Given the description of an element on the screen output the (x, y) to click on. 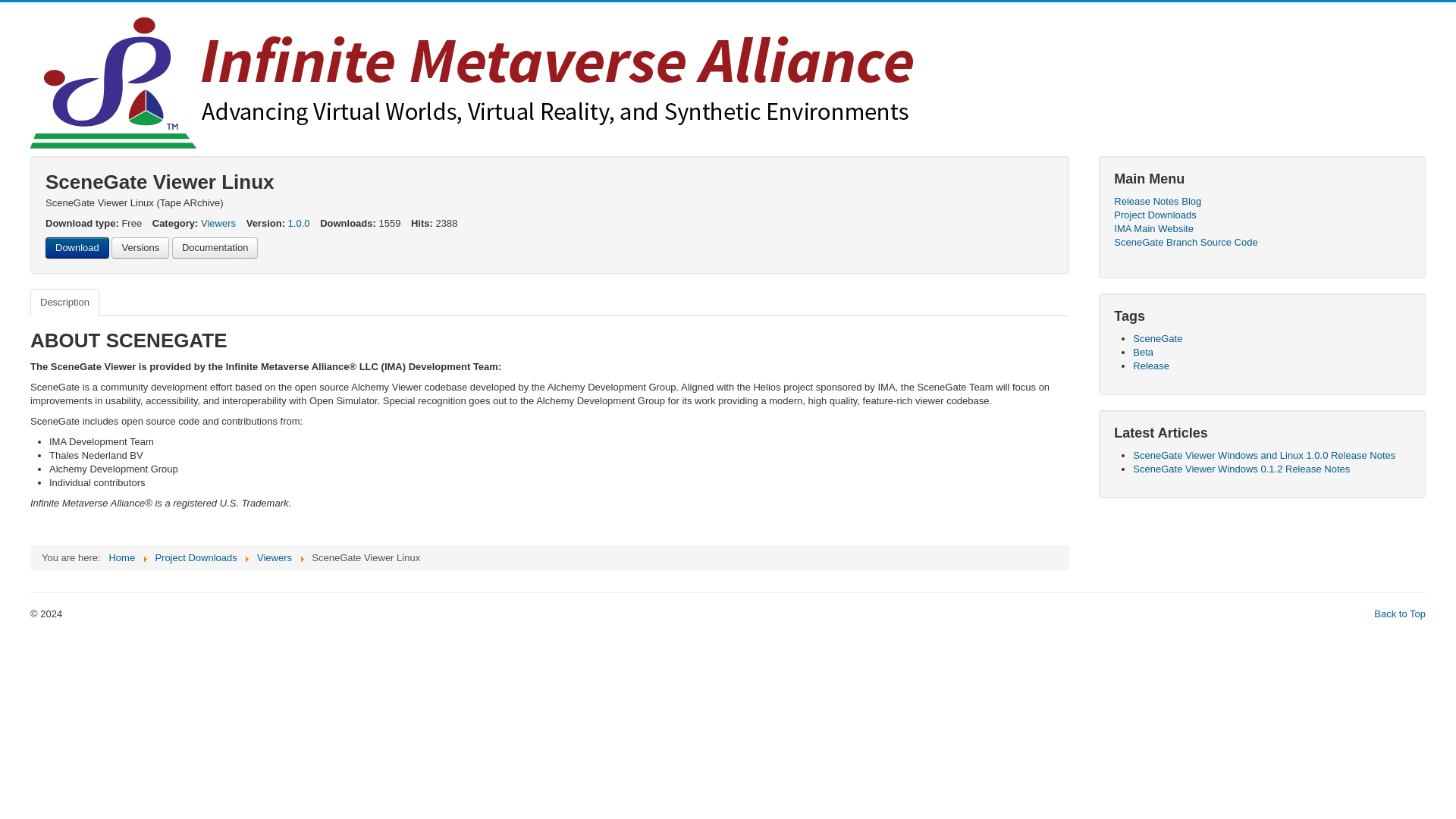
SceneGate Viewer Windows and Linux 1.0.0 Release Notes (1263, 455)
Beta (1142, 351)
Documentation (214, 247)
Release (1150, 365)
SceneGate Viewer Windows 0.1.2 Release Notes (1240, 469)
Home (121, 557)
Back to Top (1399, 613)
Description (64, 302)
Release Notes Blog (1261, 201)
Viewers (217, 223)
